Given the description of an element on the screen output the (x, y) to click on. 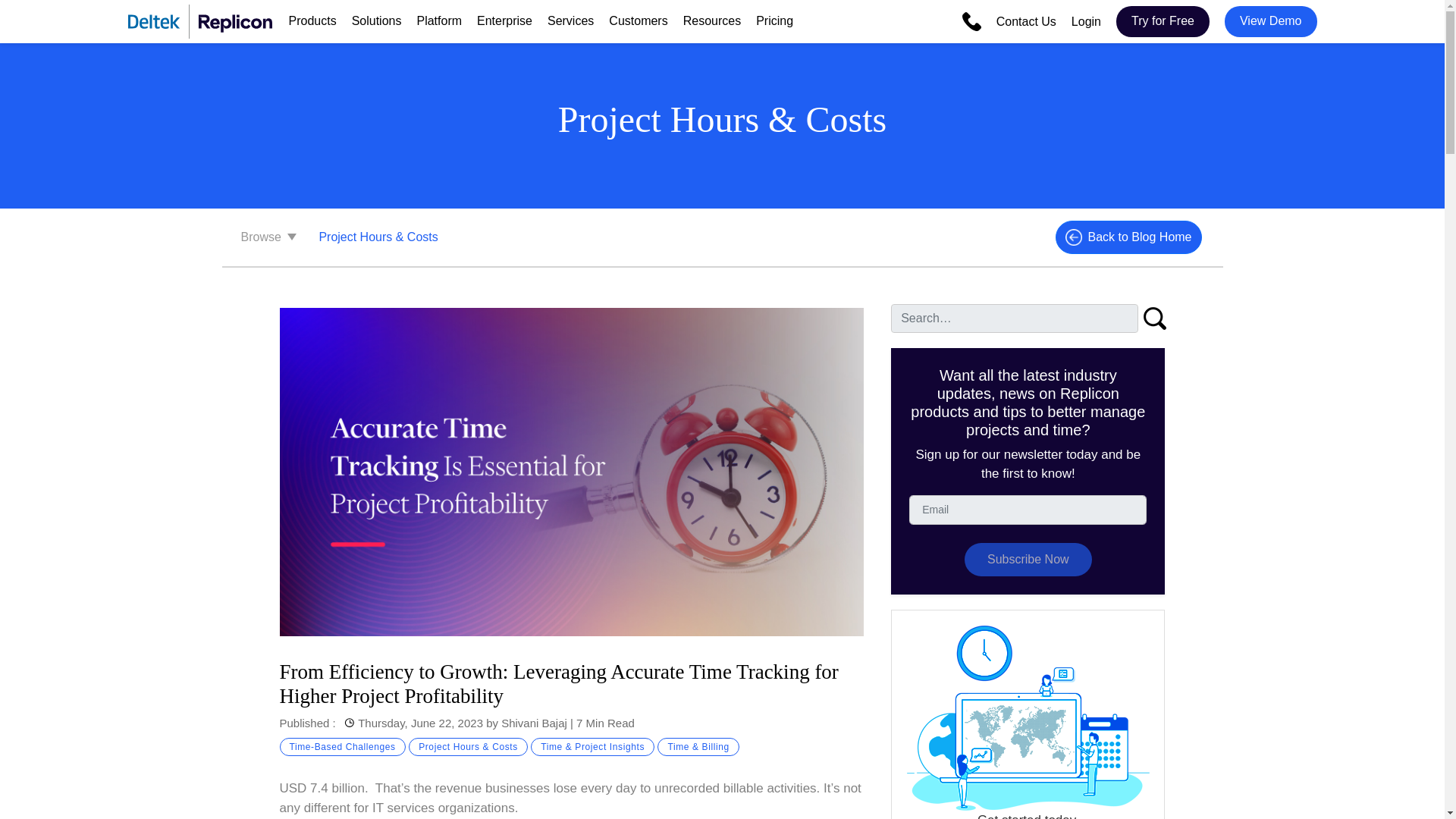
Solutions (376, 20)
View all posts in Time-Based Challenges (341, 746)
Platform (438, 20)
Products (312, 20)
